Given the description of an element on the screen output the (x, y) to click on. 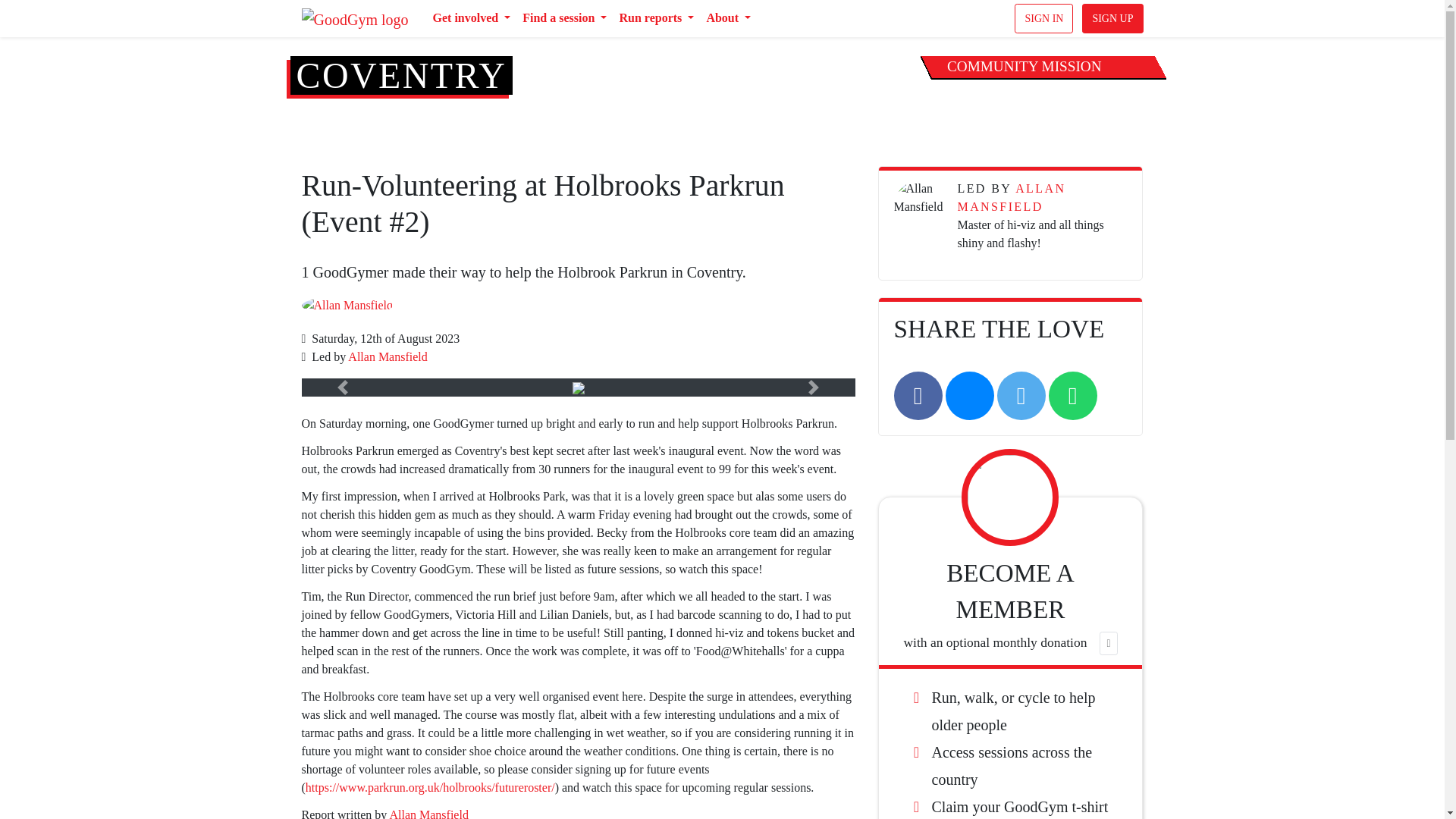
Messenger (968, 395)
COVENTRY (400, 75)
About (728, 18)
Find a session (564, 18)
Get involved (471, 18)
SIGN IN (1043, 18)
SIGN UP (1111, 18)
Run reports (656, 18)
Previous (343, 387)
Allan Mansfield (386, 356)
